Given the description of an element on the screen output the (x, y) to click on. 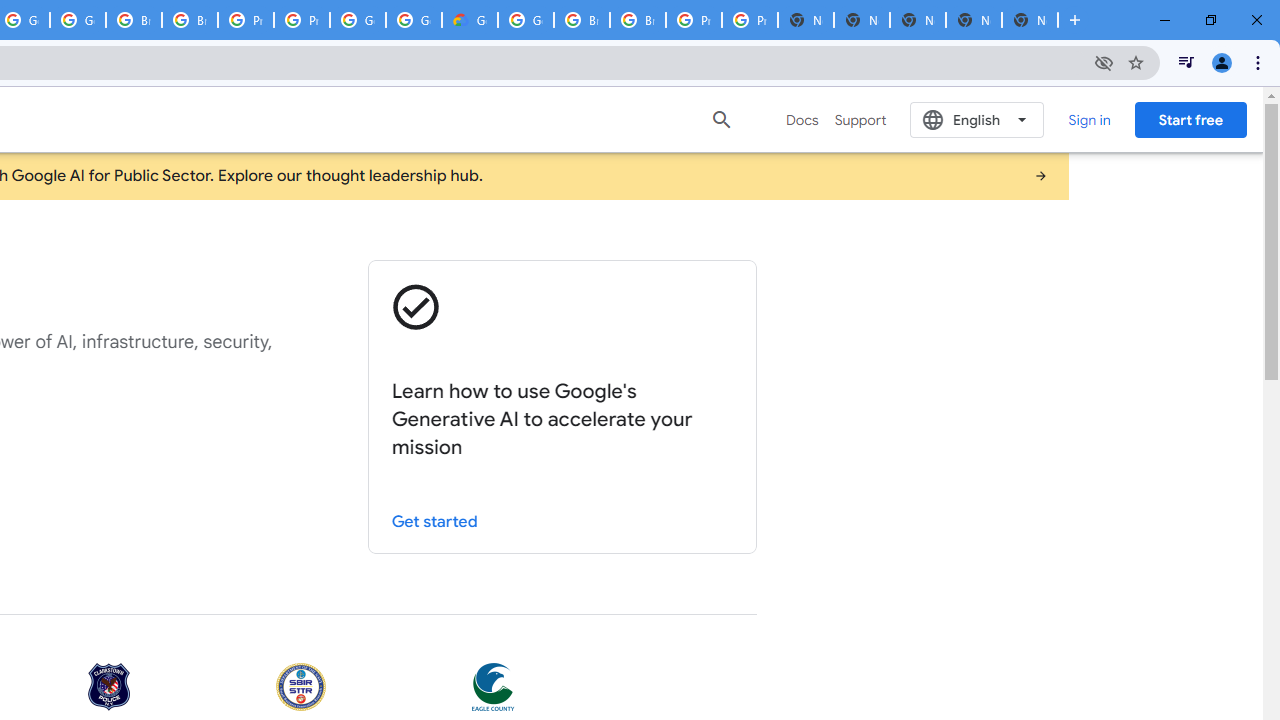
Start free (1190, 119)
Google Cloud Platform (413, 20)
Browse Chrome as a guest - Computer - Google Chrome Help (134, 20)
Clarkstown Police (109, 687)
Google Cloud Platform (525, 20)
Google Cloud Estimate Summary (469, 20)
